Given the description of an element on the screen output the (x, y) to click on. 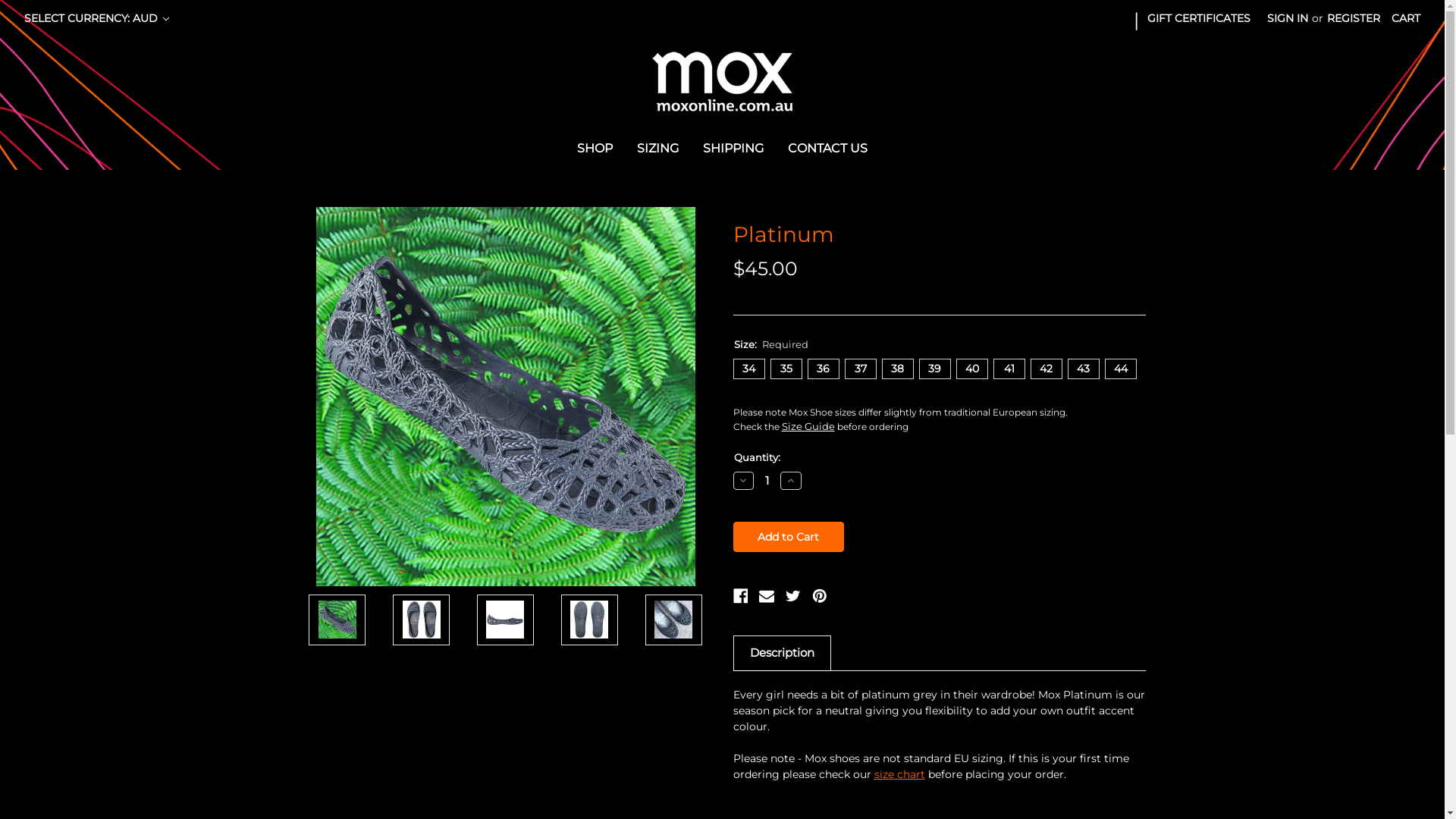
Description Element type: text (782, 652)
Increase Quantity: Element type: text (790, 480)
CONTACT US Element type: text (827, 150)
Add to Cart Element type: text (788, 536)
SIZING Element type: text (657, 150)
moxonline.com.au Element type: hover (722, 81)
REGISTER Element type: text (1353, 18)
Platinum Element type: hover (504, 396)
Platinum Element type: hover (673, 619)
SHIPPING Element type: text (732, 150)
SHOP Element type: text (594, 150)
GIFT CERTIFICATES Element type: text (1198, 18)
Size Guide Element type: text (807, 426)
Platinum Element type: hover (589, 619)
SIGN IN Element type: text (1287, 18)
Platinum Element type: hover (505, 619)
size chart Element type: text (898, 774)
CART Element type: text (1405, 18)
SELECT CURRENCY: AUD Element type: text (96, 18)
Platinum Element type: hover (421, 619)
Decrease Quantity: Element type: text (742, 480)
Platinum Element type: hover (337, 619)
